Given the description of an element on the screen output the (x, y) to click on. 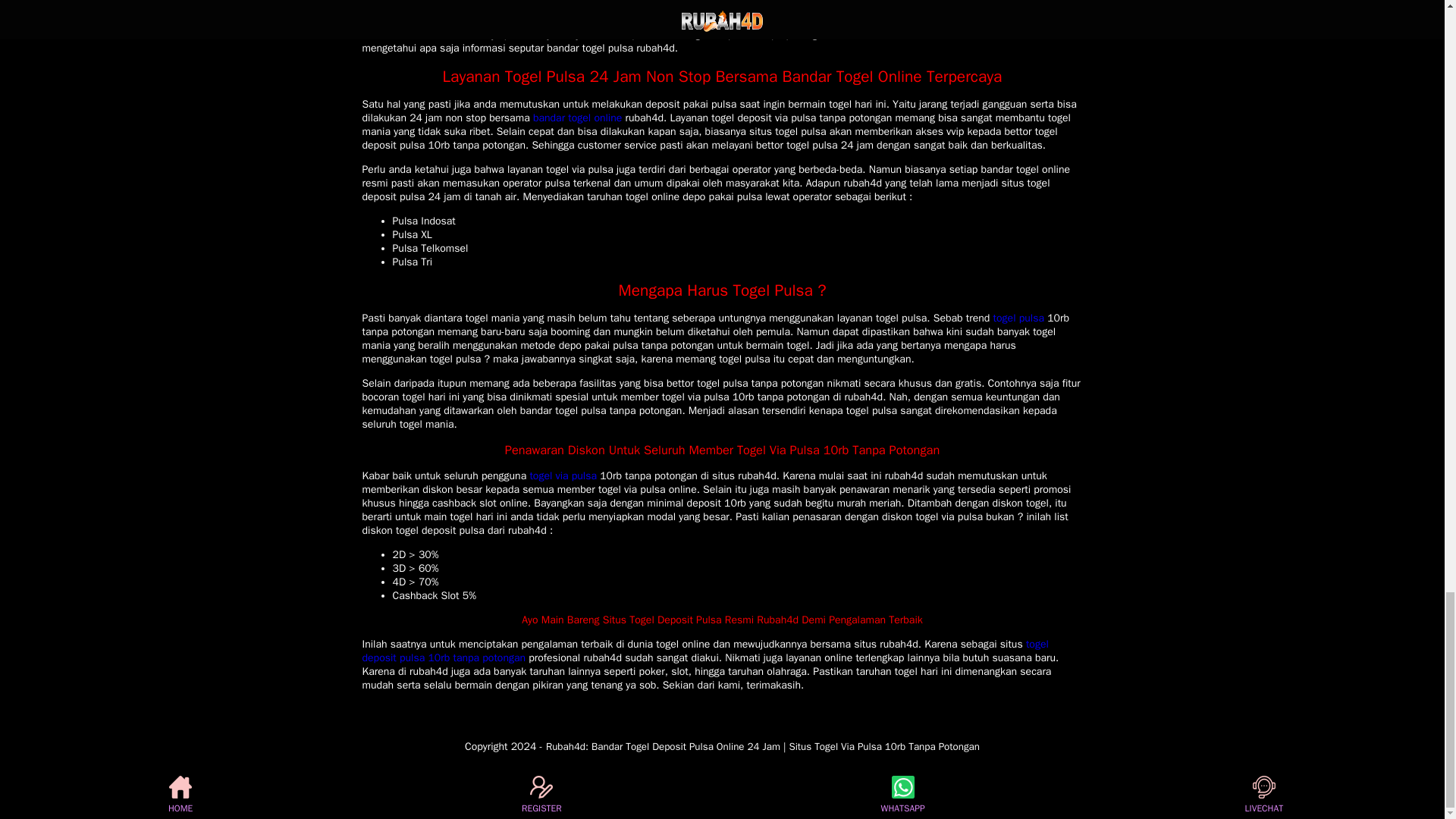
BANDAR TOGEL ONLINE (762, 746)
bandar togel online (576, 117)
togel pulsa (1017, 318)
togel via pulsa (562, 475)
togel deposit pulsa 10rb tanpa potongan (705, 651)
